Given the description of an element on the screen output the (x, y) to click on. 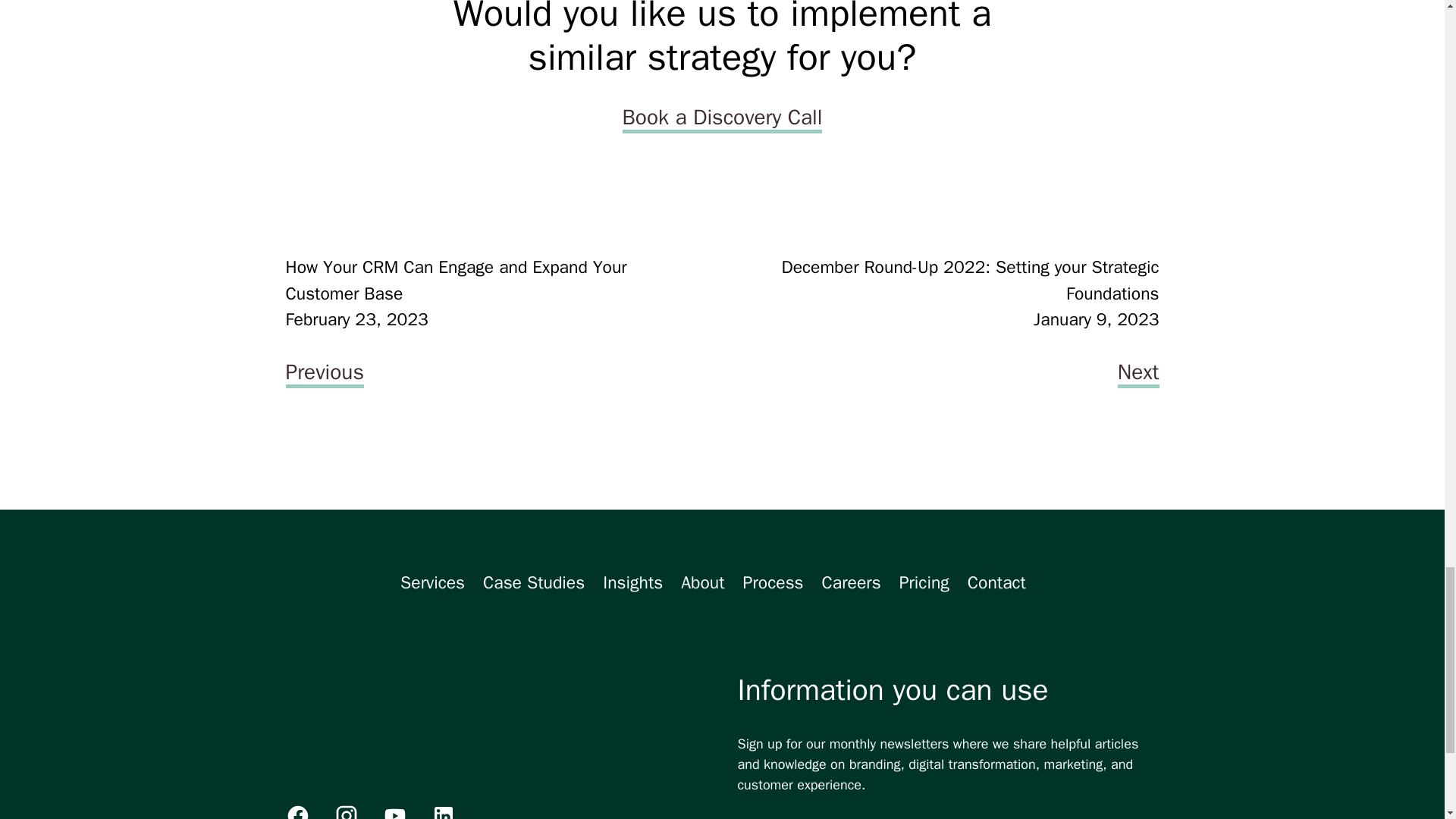
Services (432, 582)
Insights (632, 582)
Next (1138, 374)
Book a Discovery Call (722, 119)
Case Studies (534, 582)
Previous (323, 374)
